Given the description of an element on the screen output the (x, y) to click on. 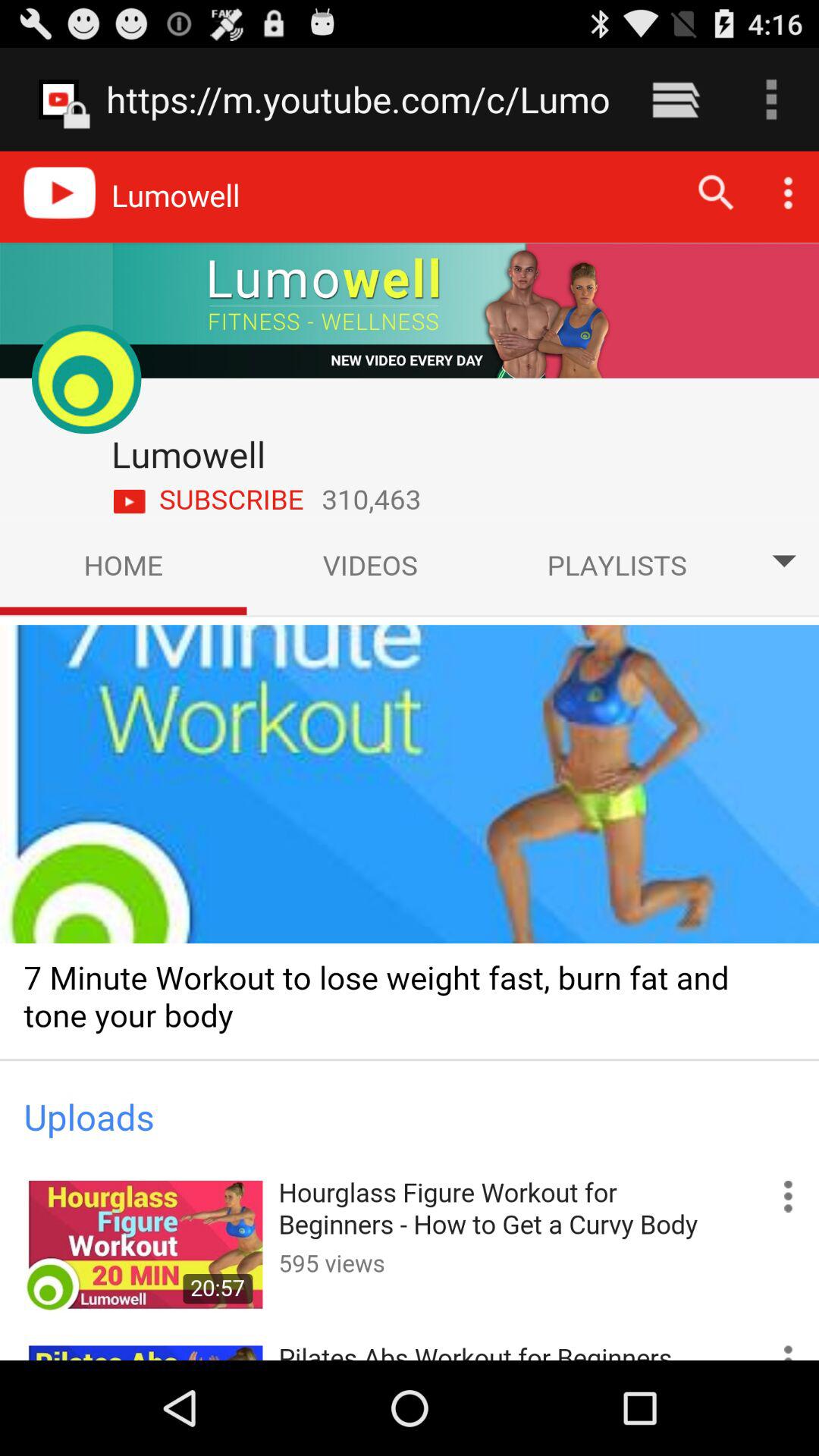
launch the icon at the center (409, 755)
